Given the description of an element on the screen output the (x, y) to click on. 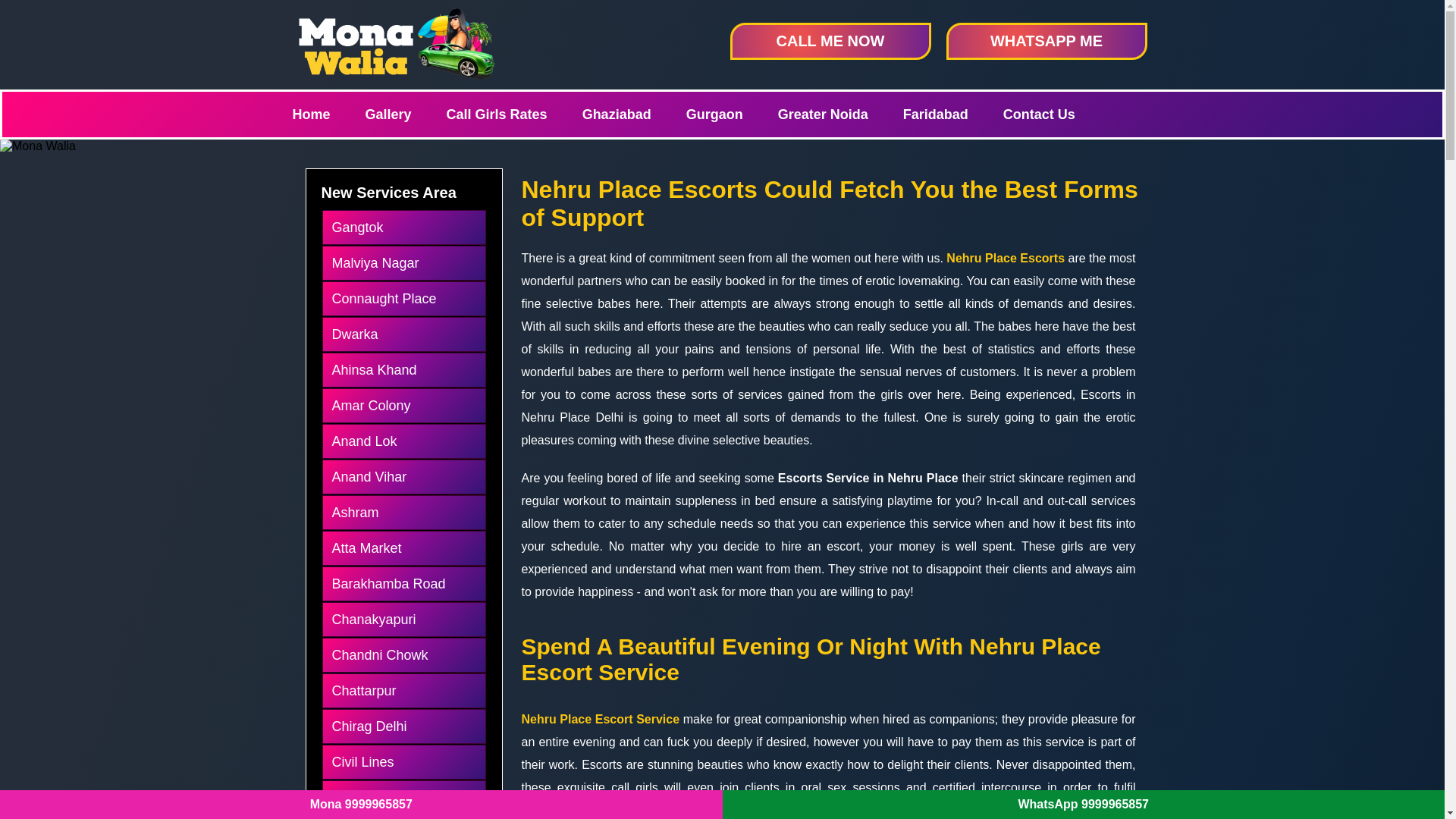
Ashram (403, 512)
Chanakyapuri (403, 619)
Barakhamba Road (403, 583)
WHATSAPP ME (1046, 40)
Ghaziabad (631, 114)
CALL ME NOW (829, 40)
Gangtok (403, 227)
Nehru Place call girls whatsapp Number (37, 146)
Chirag Delhi (403, 726)
Faridabad (951, 114)
Nehru Place Escorts Phone WhatsApp (397, 42)
Connaught Place (403, 298)
Atta Market (403, 548)
Anand Vihar (403, 476)
